Given the description of an element on the screen output the (x, y) to click on. 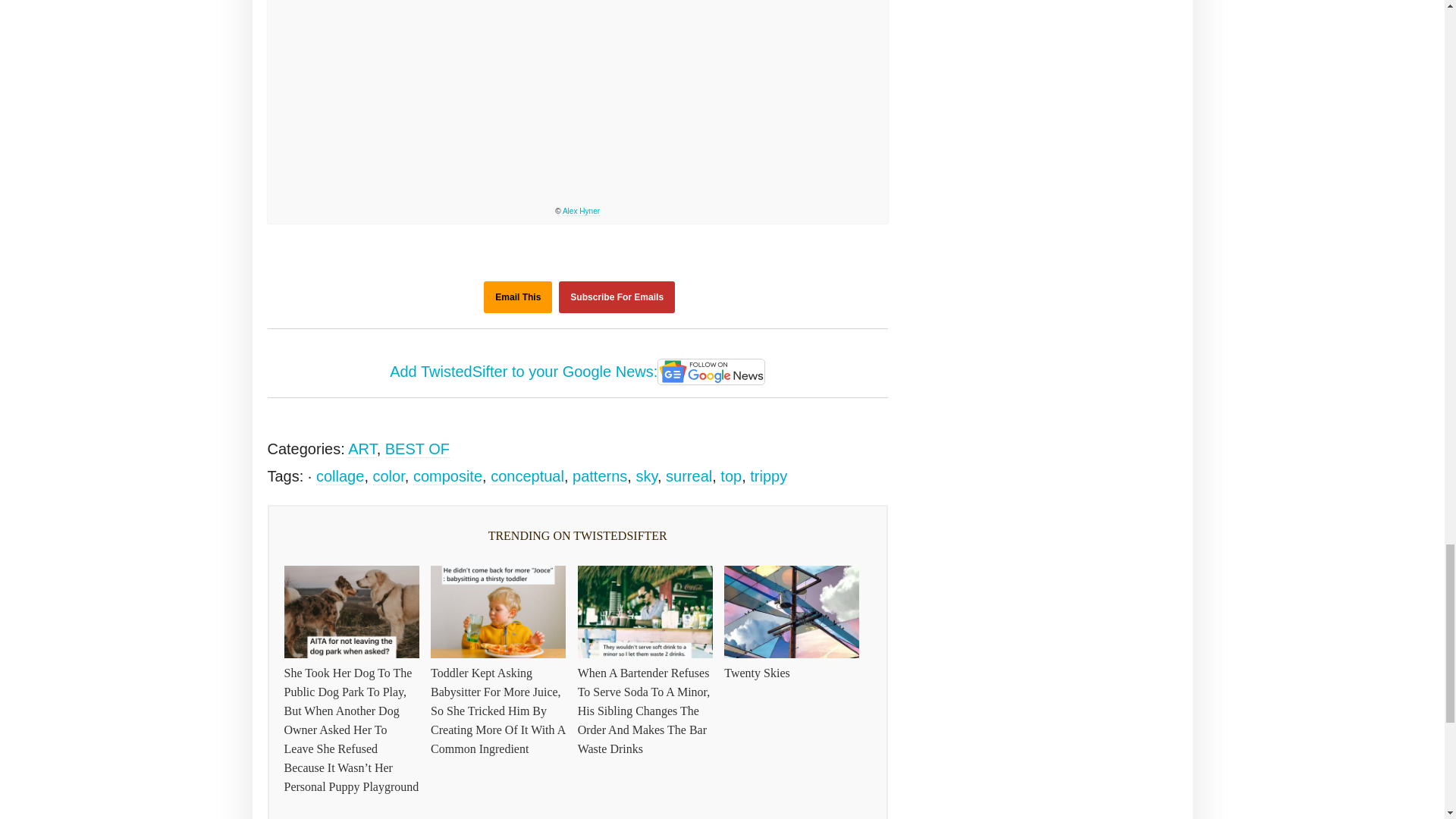
Twenty Skies (577, 99)
Email This (517, 296)
Google News (711, 371)
Alex Hyner (580, 211)
